Given the description of an element on the screen output the (x, y) to click on. 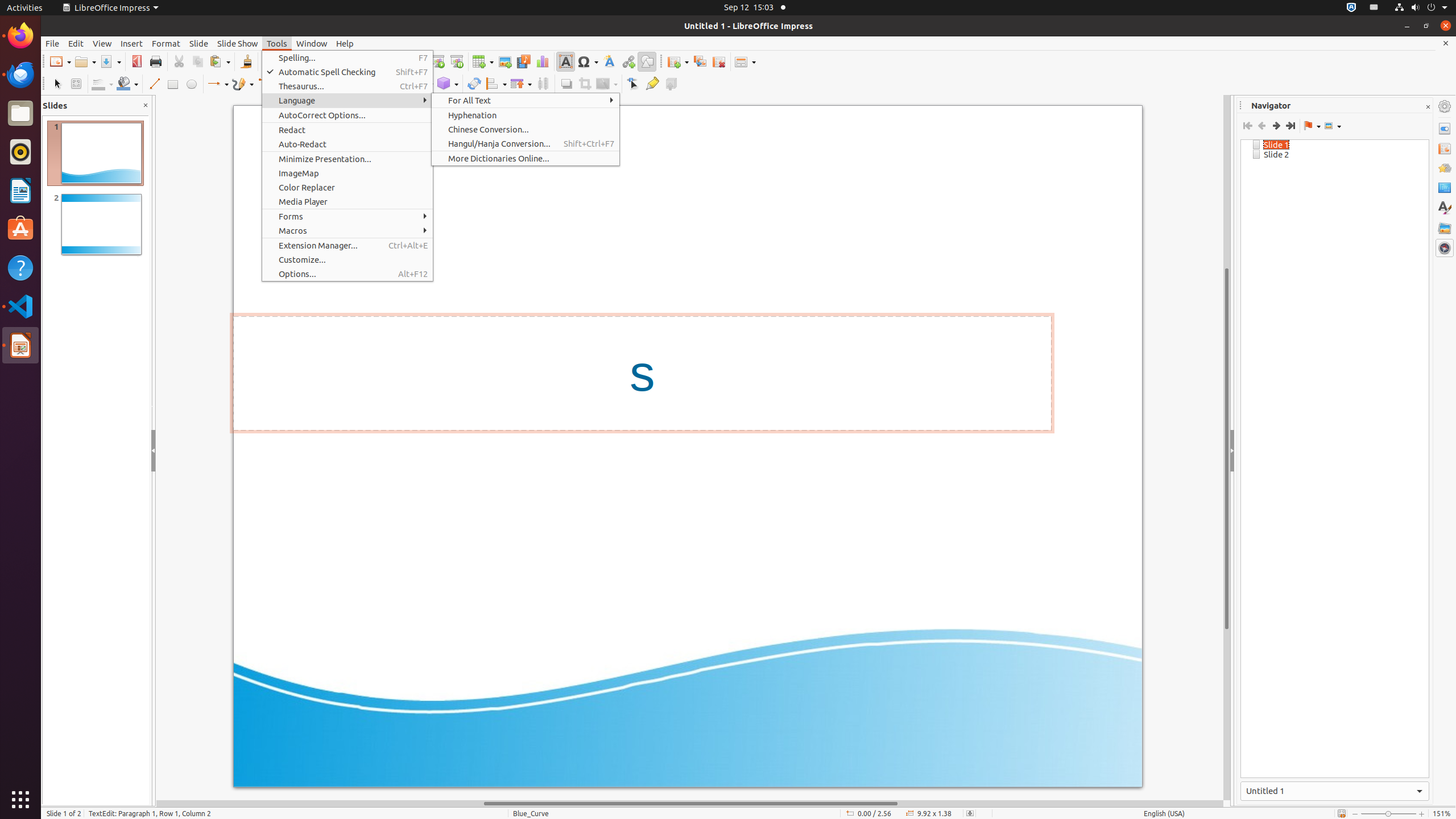
Ubuntu Software Element type: push-button (20, 229)
View Element type: menu (102, 43)
